Given the description of an element on the screen output the (x, y) to click on. 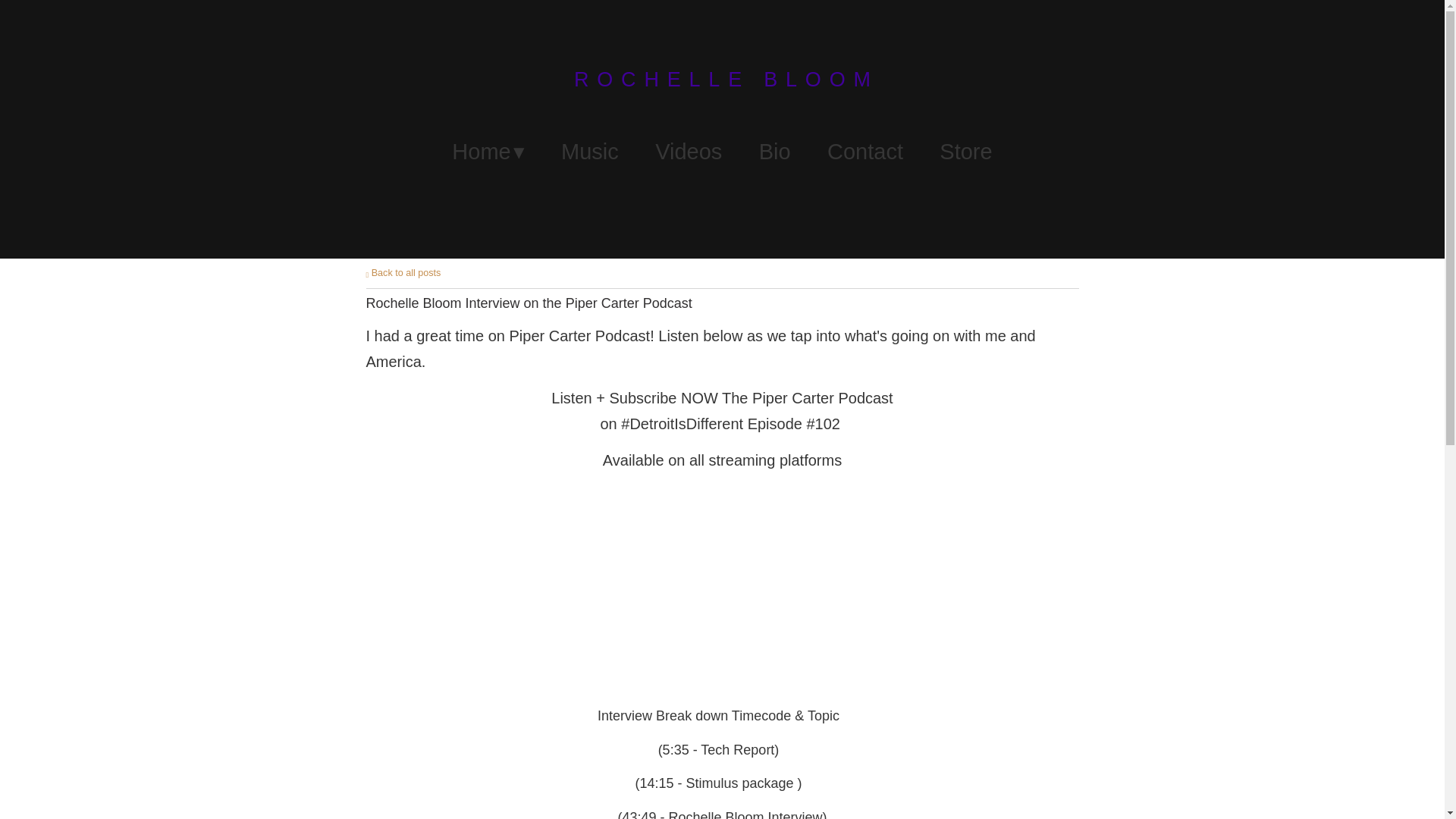
Videos (688, 152)
Back to all posts (403, 272)
Contact (864, 152)
ROCHELLE BLOOM (722, 79)
Bio (774, 152)
Music (589, 152)
Home (487, 152)
Store (965, 152)
